Given the description of an element on the screen output the (x, y) to click on. 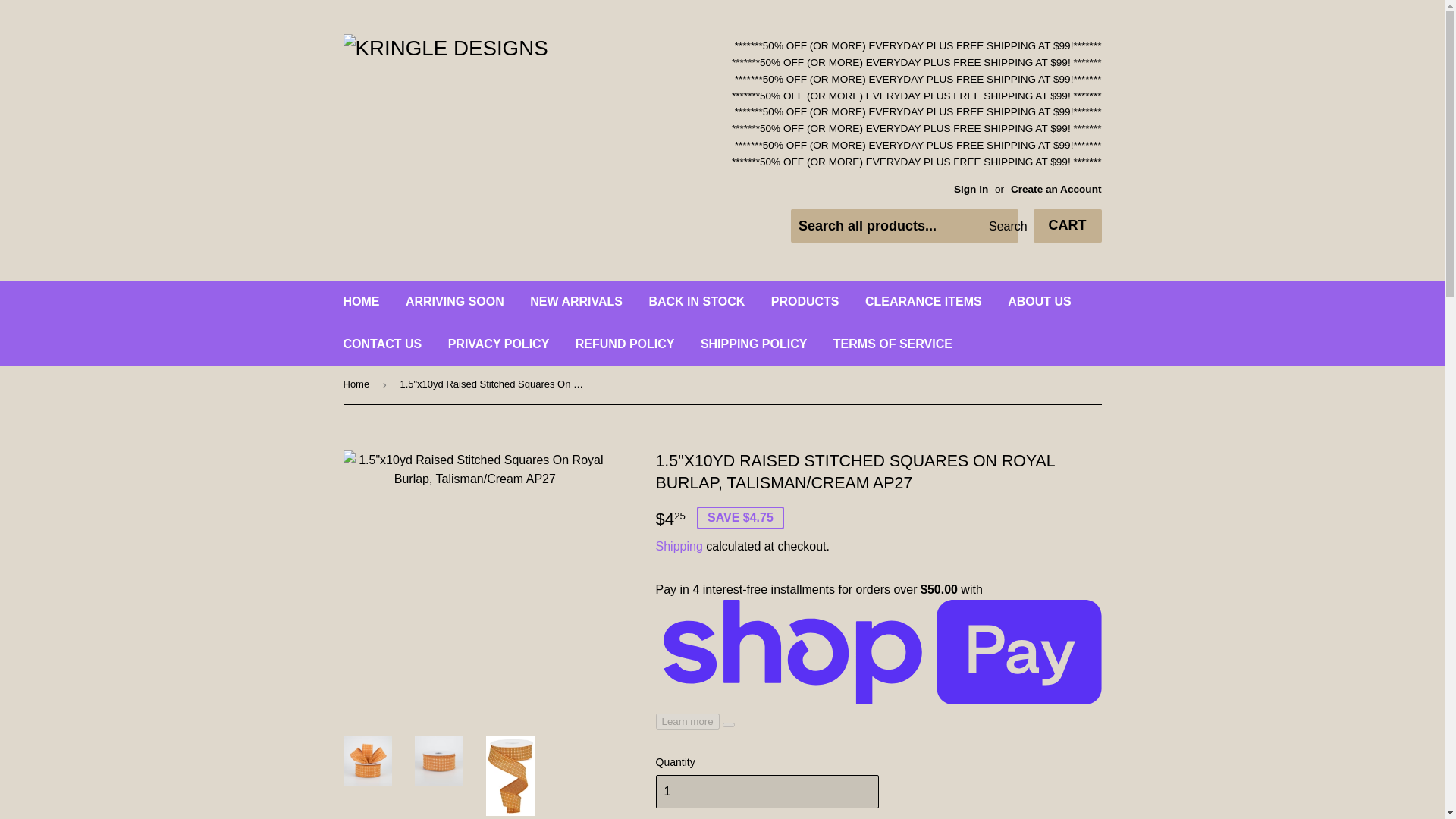
1 (766, 791)
Search (1000, 226)
CART (1066, 225)
Sign in (970, 188)
Create an Account (1056, 188)
